Given the description of an element on the screen output the (x, y) to click on. 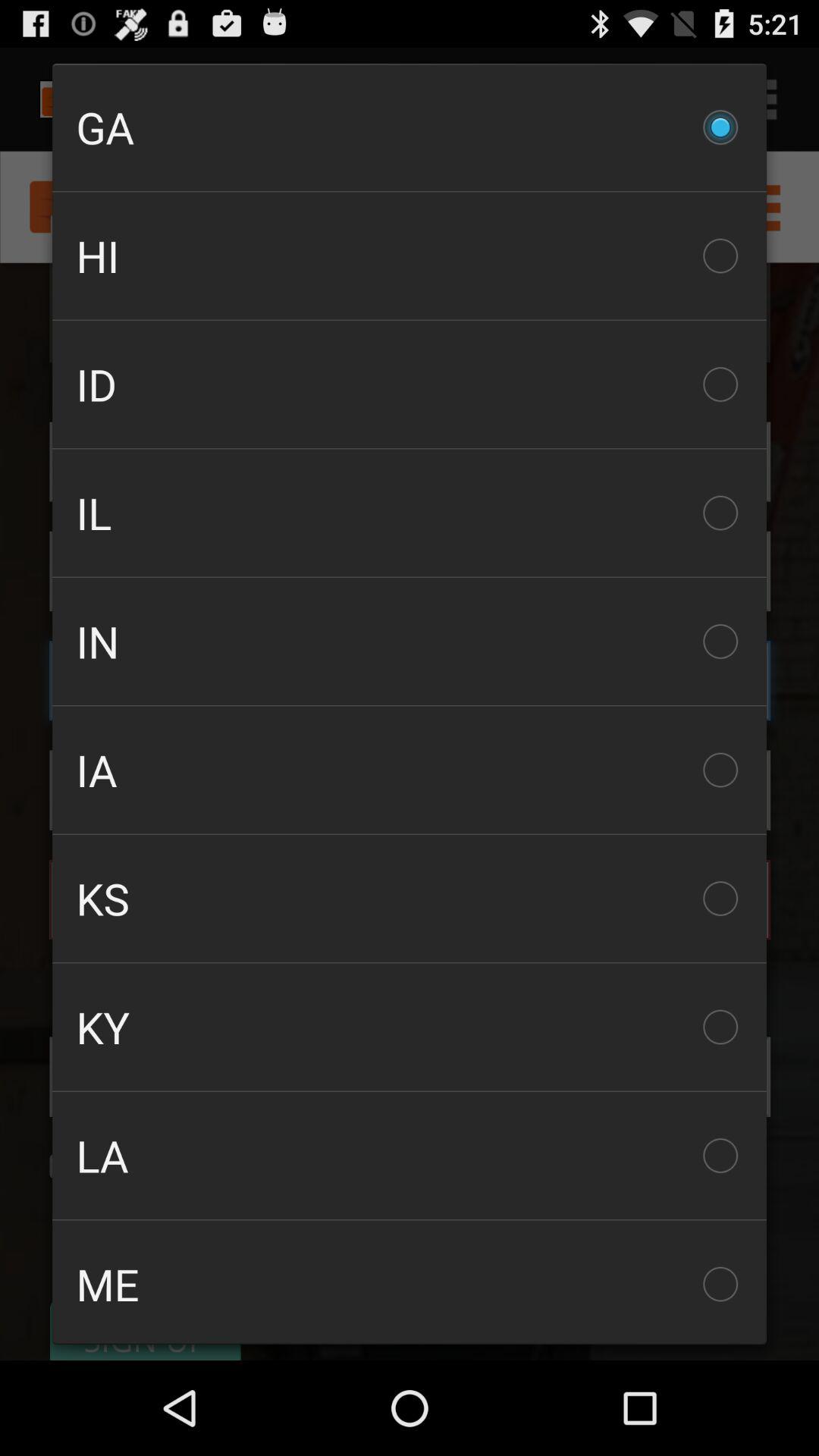
turn on the item above the hi checkbox (409, 127)
